Given the description of an element on the screen output the (x, y) to click on. 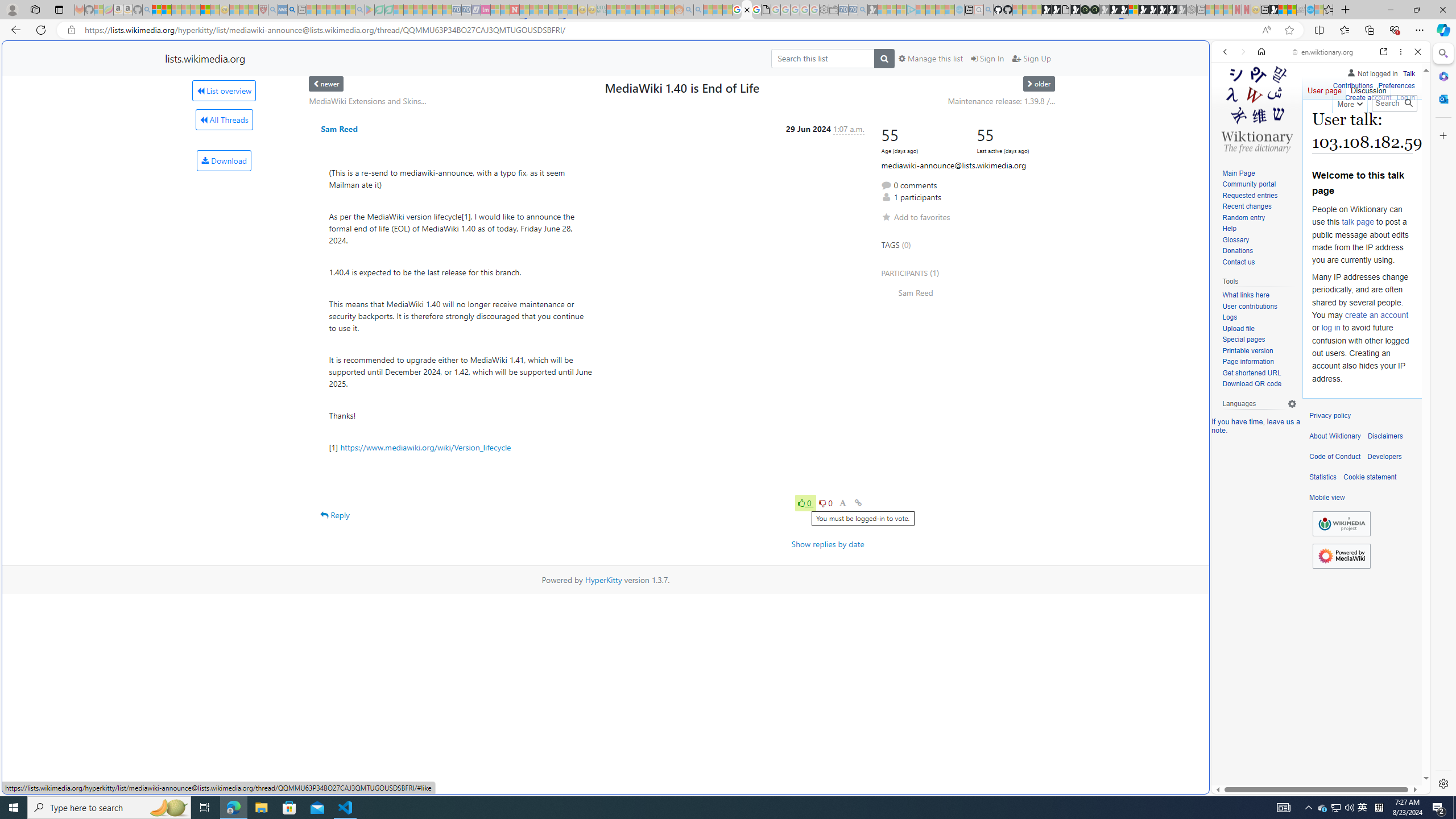
MediaWiki Extensions and Skins... (367, 100)
Log in (1405, 96)
Cookie statement (1369, 477)
Wikimedia Foundation (1341, 524)
Create account (1367, 98)
lists.wikimedia.org (204, 58)
